Given the description of an element on the screen output the (x, y) to click on. 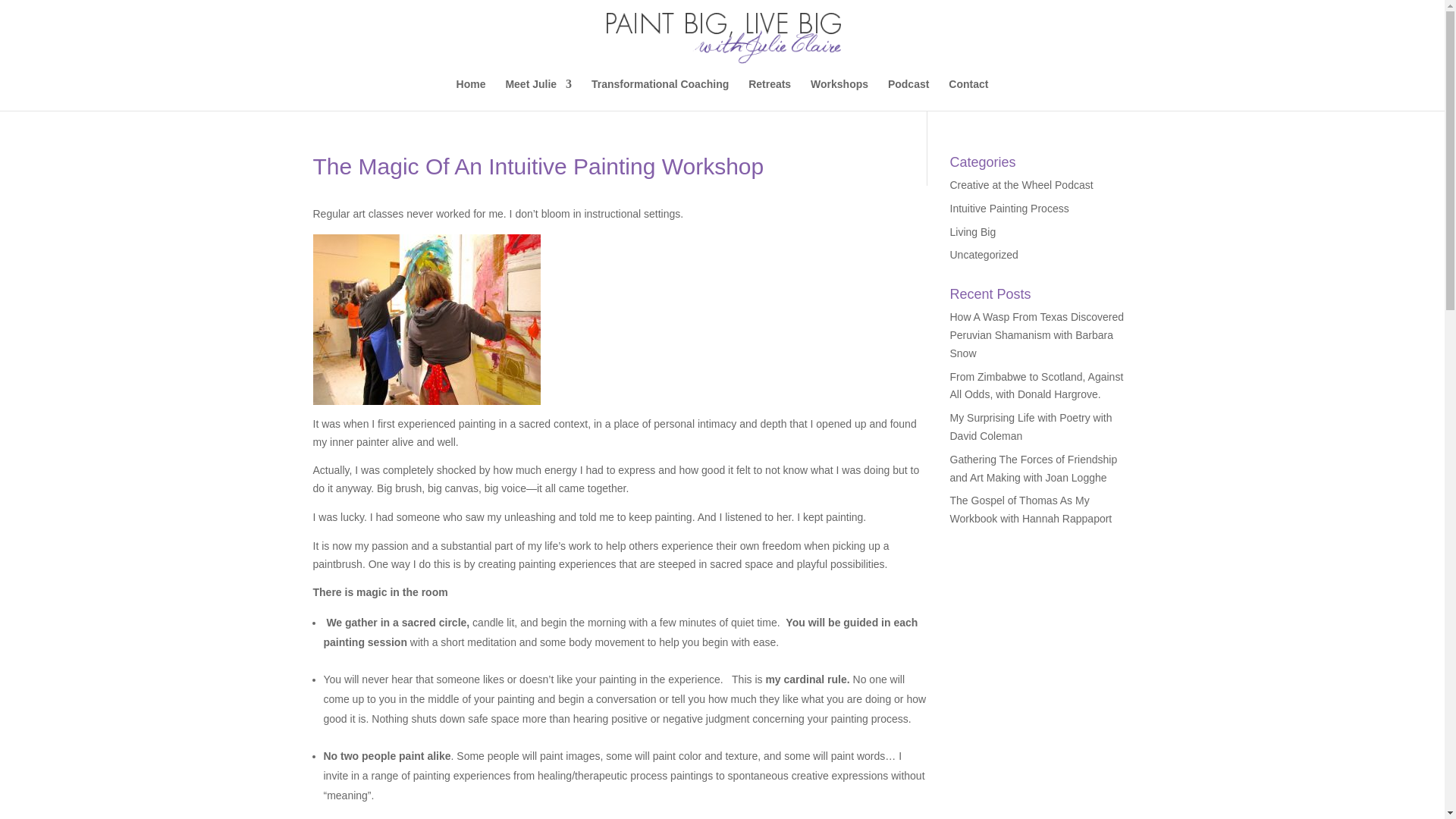
The Gospel of Thomas As My Workbook with Hannah Rappaport (1030, 509)
Retreats (769, 94)
Transformational Coaching (660, 94)
Uncategorized (983, 254)
Contact (968, 94)
Podcast (908, 94)
Creative at the Wheel Podcast (1021, 184)
My Surprising Life with Poetry with David Coleman (1030, 426)
Meet Julie (538, 94)
Intuitive Painting Process (1008, 208)
Home (471, 94)
Living Big (972, 232)
